Given the description of an element on the screen output the (x, y) to click on. 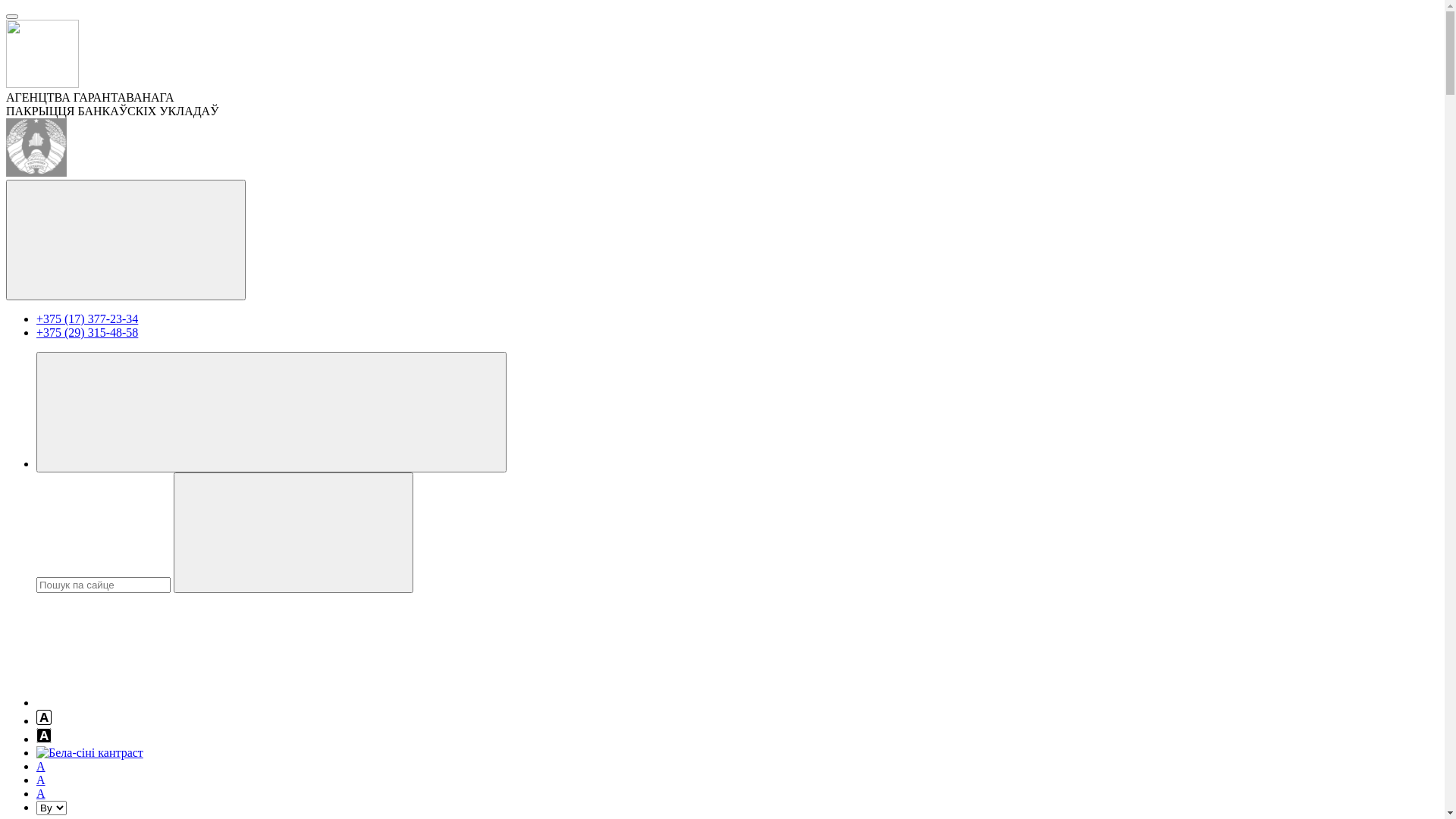
+375 (17) 377-23-34 Element type: text (87, 318)
A Element type: text (40, 765)
A Element type: text (40, 793)
A Element type: text (40, 779)
+375 (29) 315-48-58 Element type: text (87, 332)
